Given the description of an element on the screen output the (x, y) to click on. 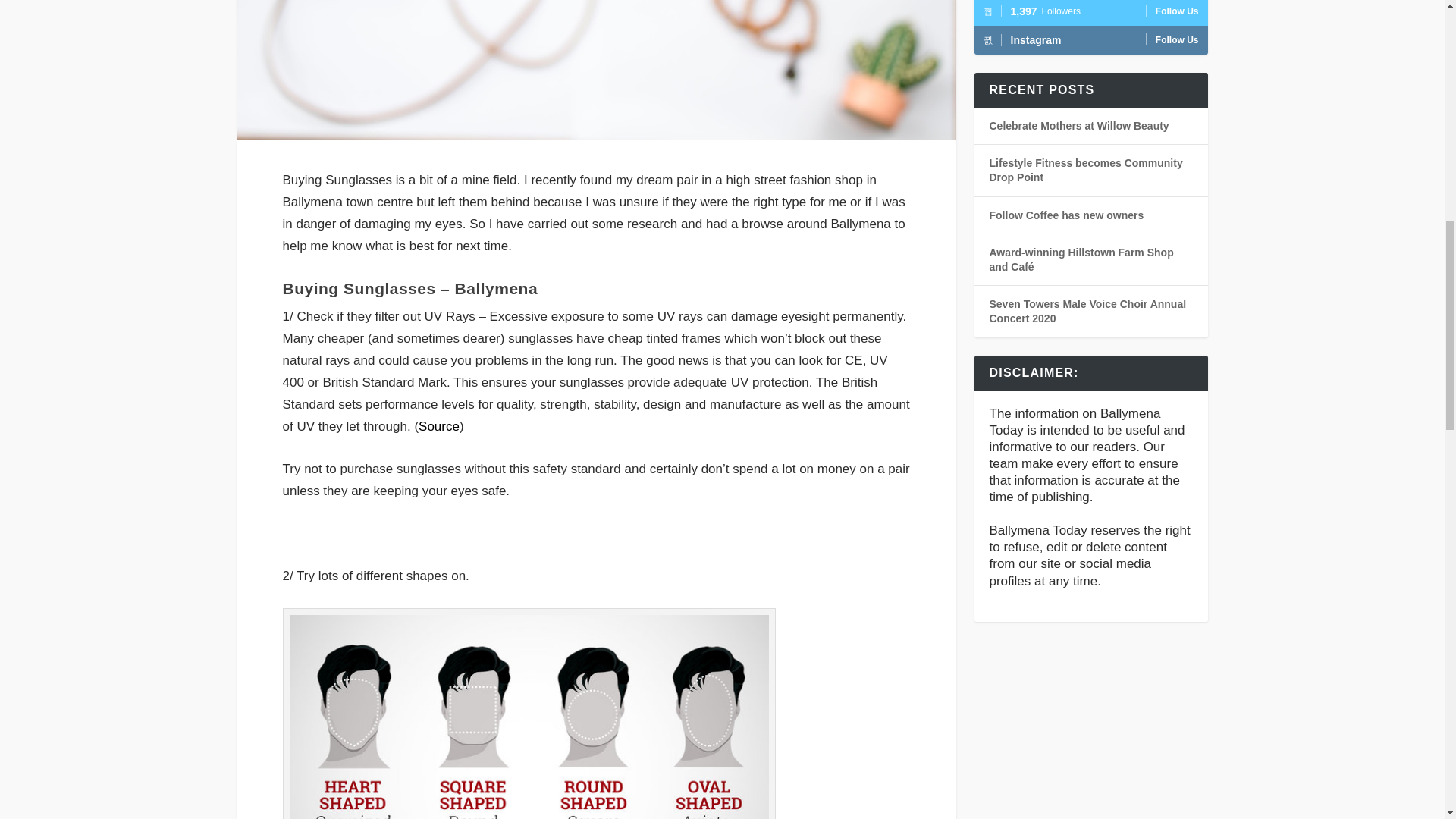
Source (439, 426)
